Given the description of an element on the screen output the (x, y) to click on. 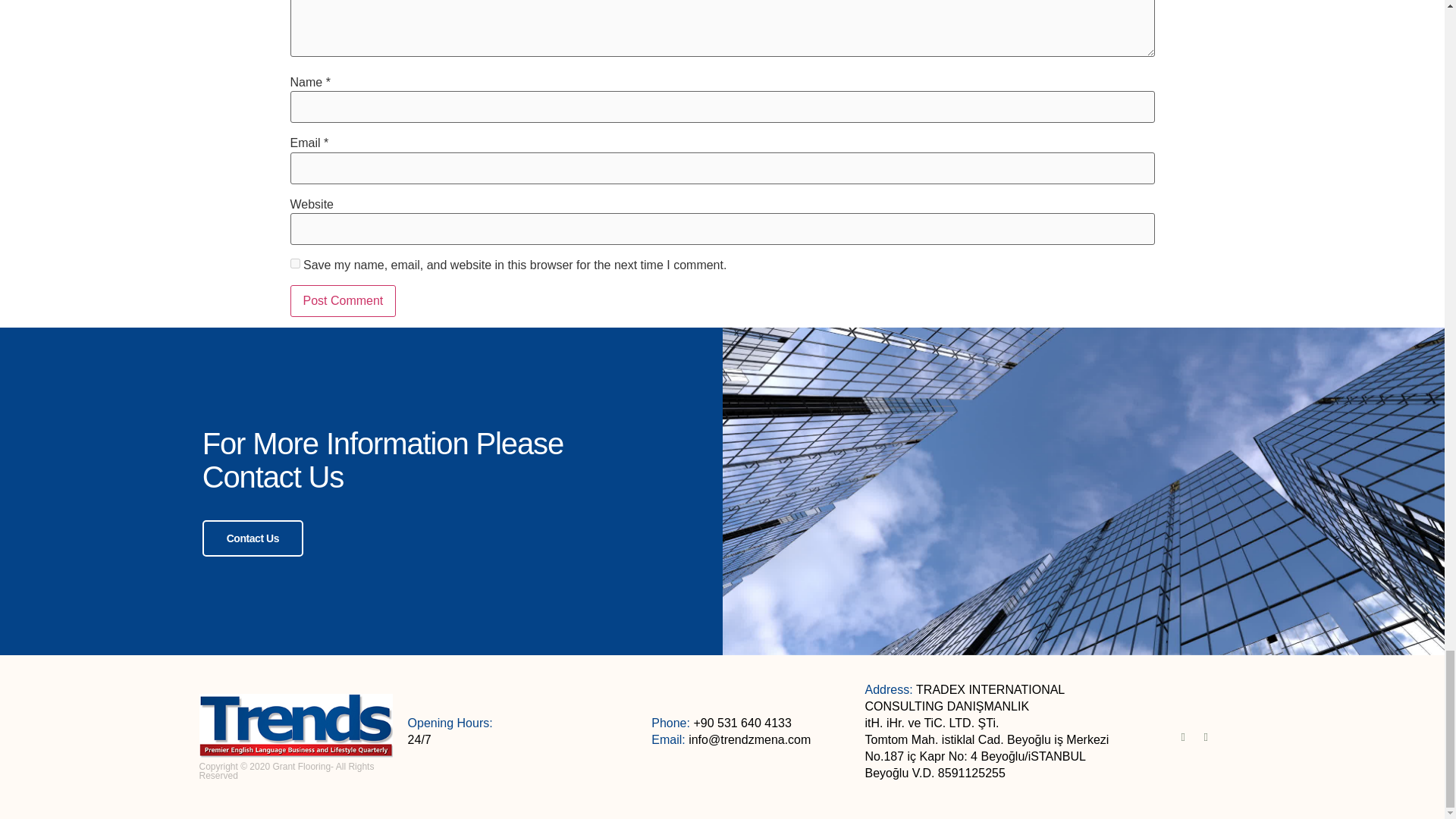
Post Comment (342, 300)
yes (294, 263)
